Given the description of an element on the screen output the (x, y) to click on. 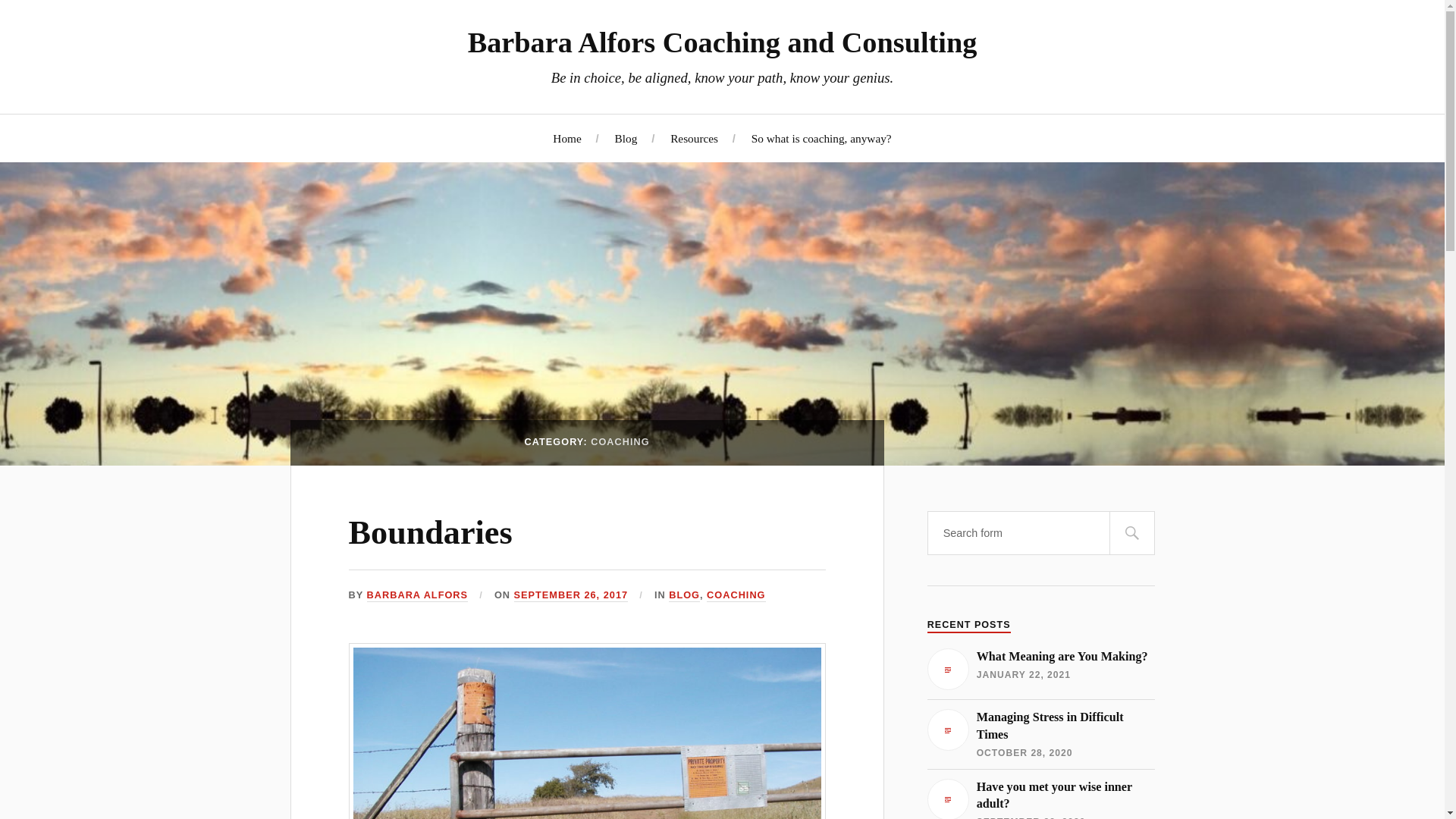
SEPTEMBER 26, 2017 (570, 594)
BARBARA ALFORS (1040, 798)
So what is coaching, anyway? (1040, 734)
COACHING (416, 594)
Barbara Alfors Coaching and Consulting (1040, 669)
Resources (821, 137)
BLOG (735, 594)
